Given the description of an element on the screen output the (x, y) to click on. 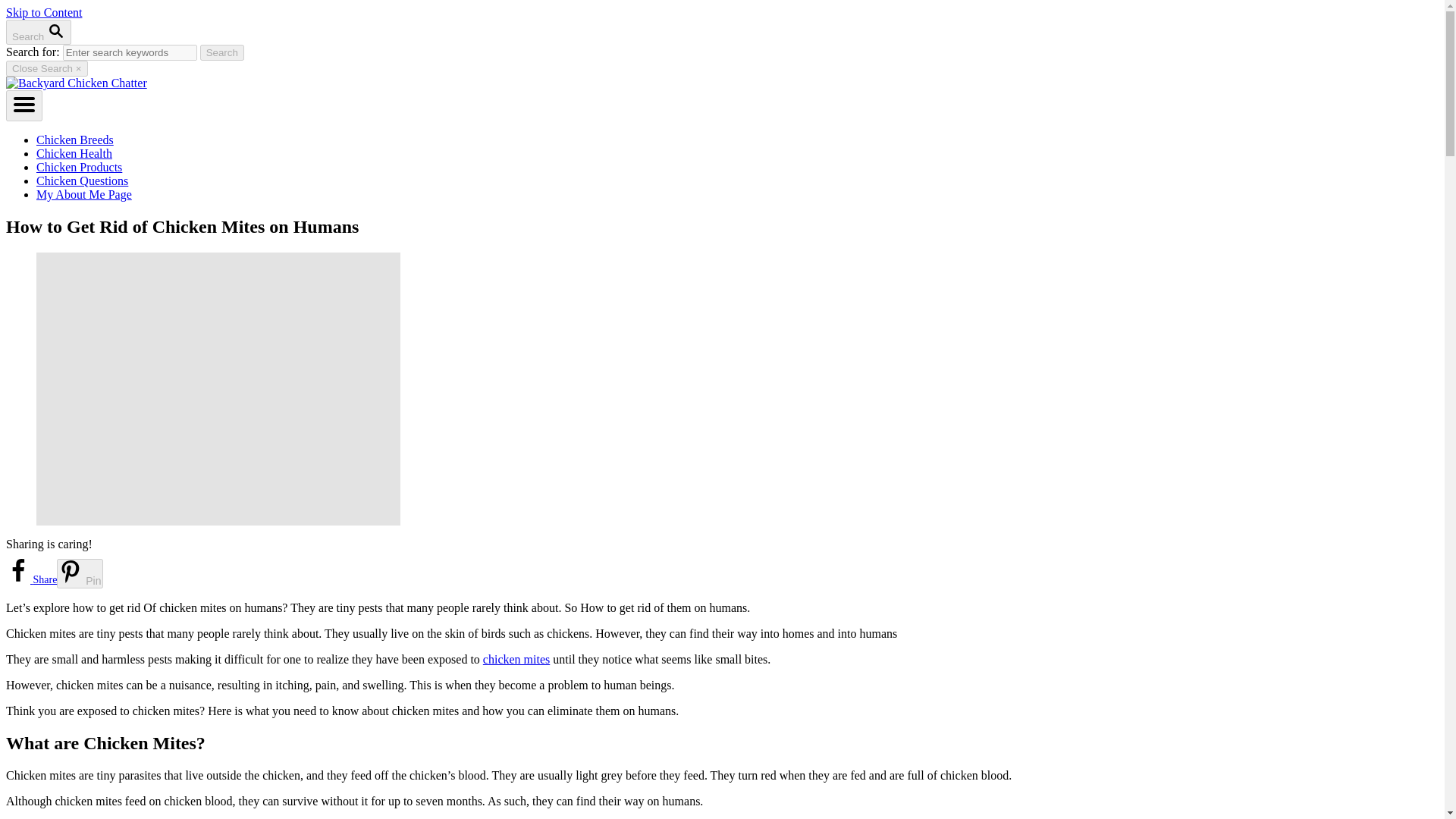
Chicken Health (74, 153)
Share on Facebook (30, 579)
Skip to Content (43, 11)
chicken mites (516, 658)
Search for: (129, 52)
Chicken Breeds (74, 139)
Backyard Chicken Chatter (76, 82)
Search (222, 52)
Search (222, 52)
Save to Pinterest (78, 573)
